Given the description of an element on the screen output the (x, y) to click on. 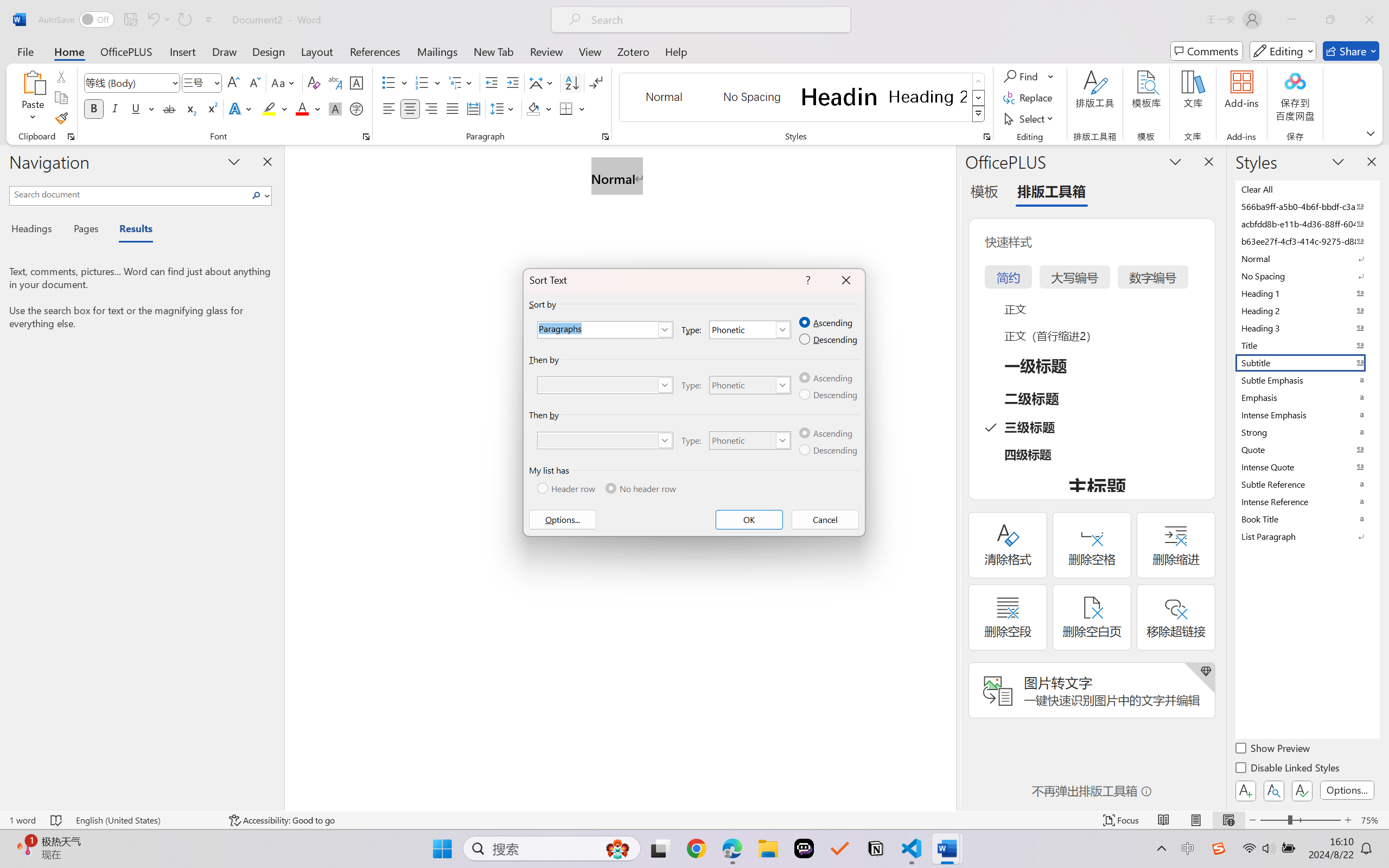
Select (1030, 118)
Increase Indent (512, 82)
References (375, 51)
Subtle Reference (1306, 484)
Text Highlight Color Yellow (269, 108)
Sort... (571, 82)
Show/Hide Editing Marks (595, 82)
Zoom Out (1273, 819)
Character Shading (334, 108)
Text Effects and Typography (241, 108)
